Given the description of an element on the screen output the (x, y) to click on. 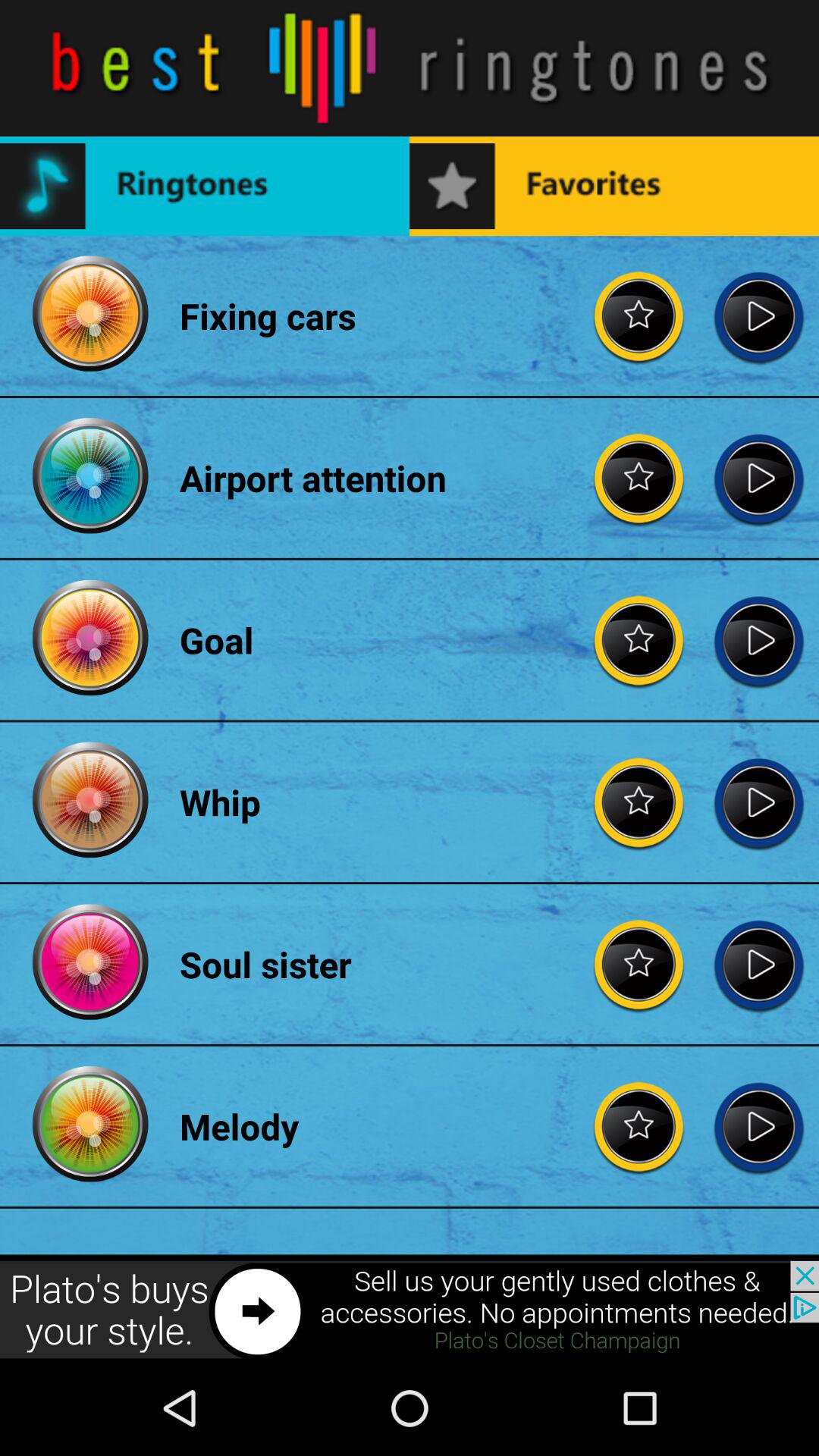
click to play goal music (758, 639)
